Given the description of an element on the screen output the (x, y) to click on. 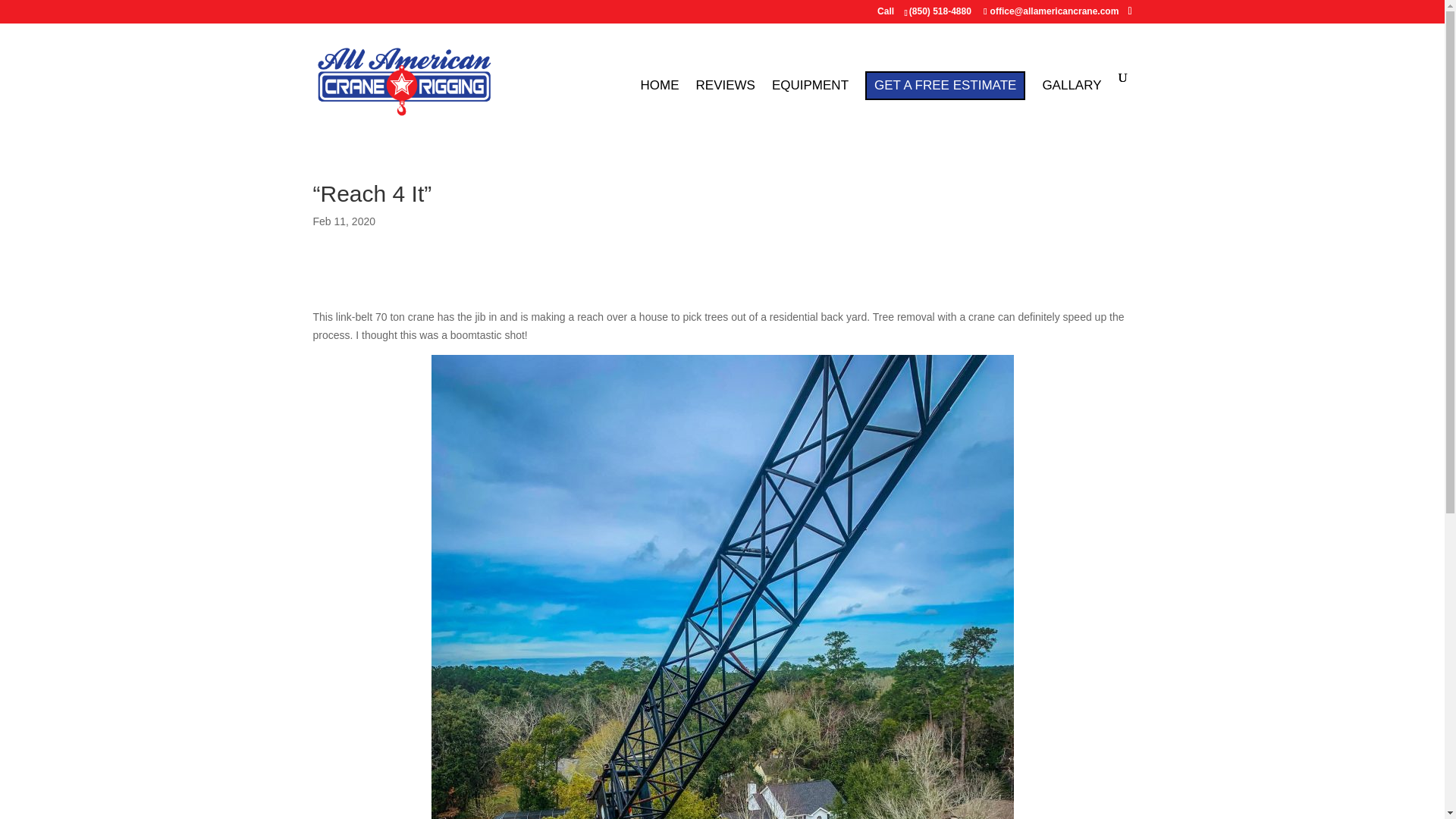
GET A FREE ESTIMATE (944, 85)
REVIEWS (725, 109)
EQUIPMENT (809, 109)
GALLARY (1071, 109)
